Given the description of an element on the screen output the (x, y) to click on. 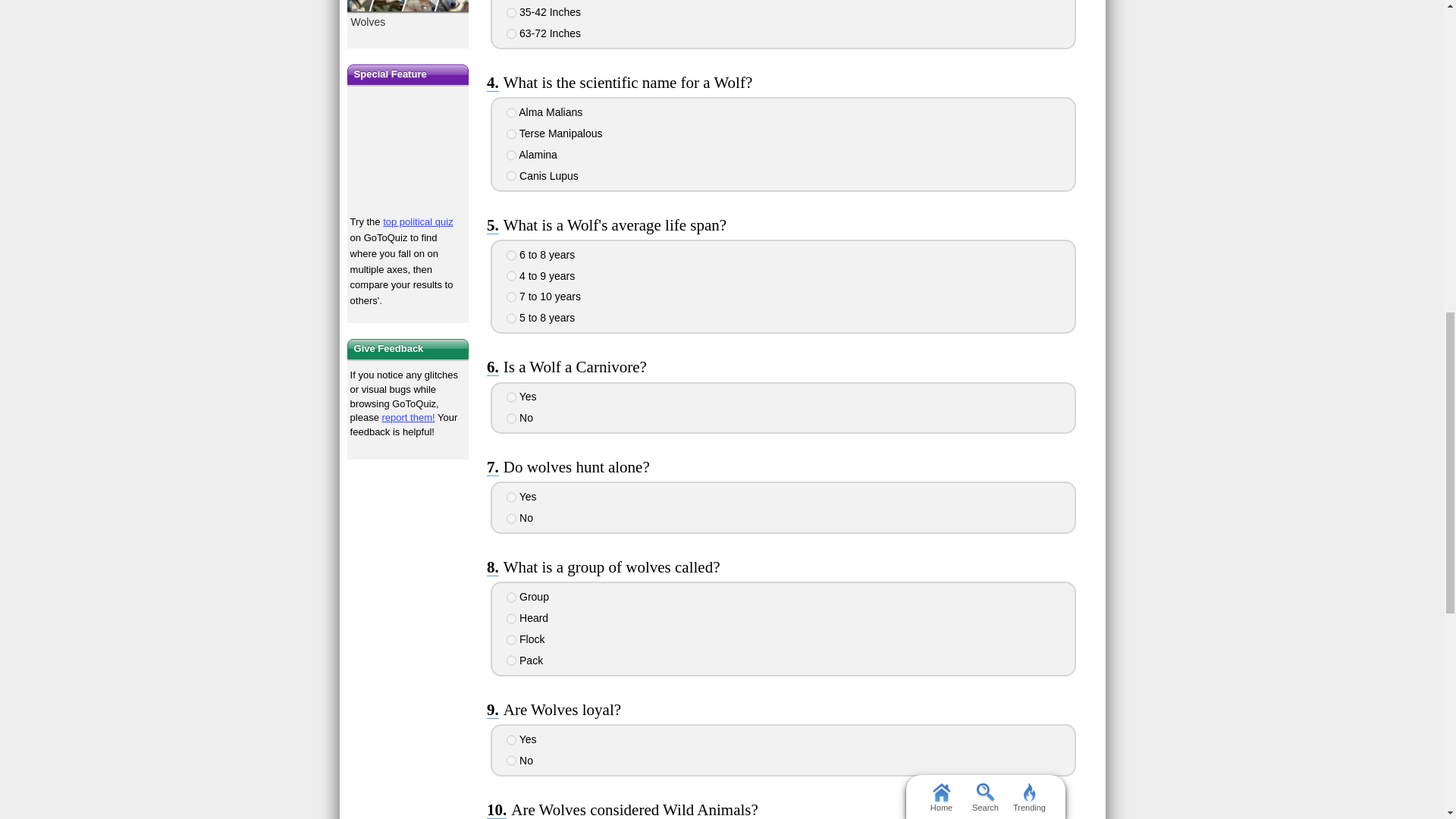
2 (511, 276)
Take our featured politics quiz (407, 152)
3 (511, 154)
4 (511, 33)
report them! (408, 417)
4 (511, 175)
3 (511, 12)
Wolves (407, 16)
2 (511, 133)
3 (511, 296)
